Given the description of an element on the screen output the (x, y) to click on. 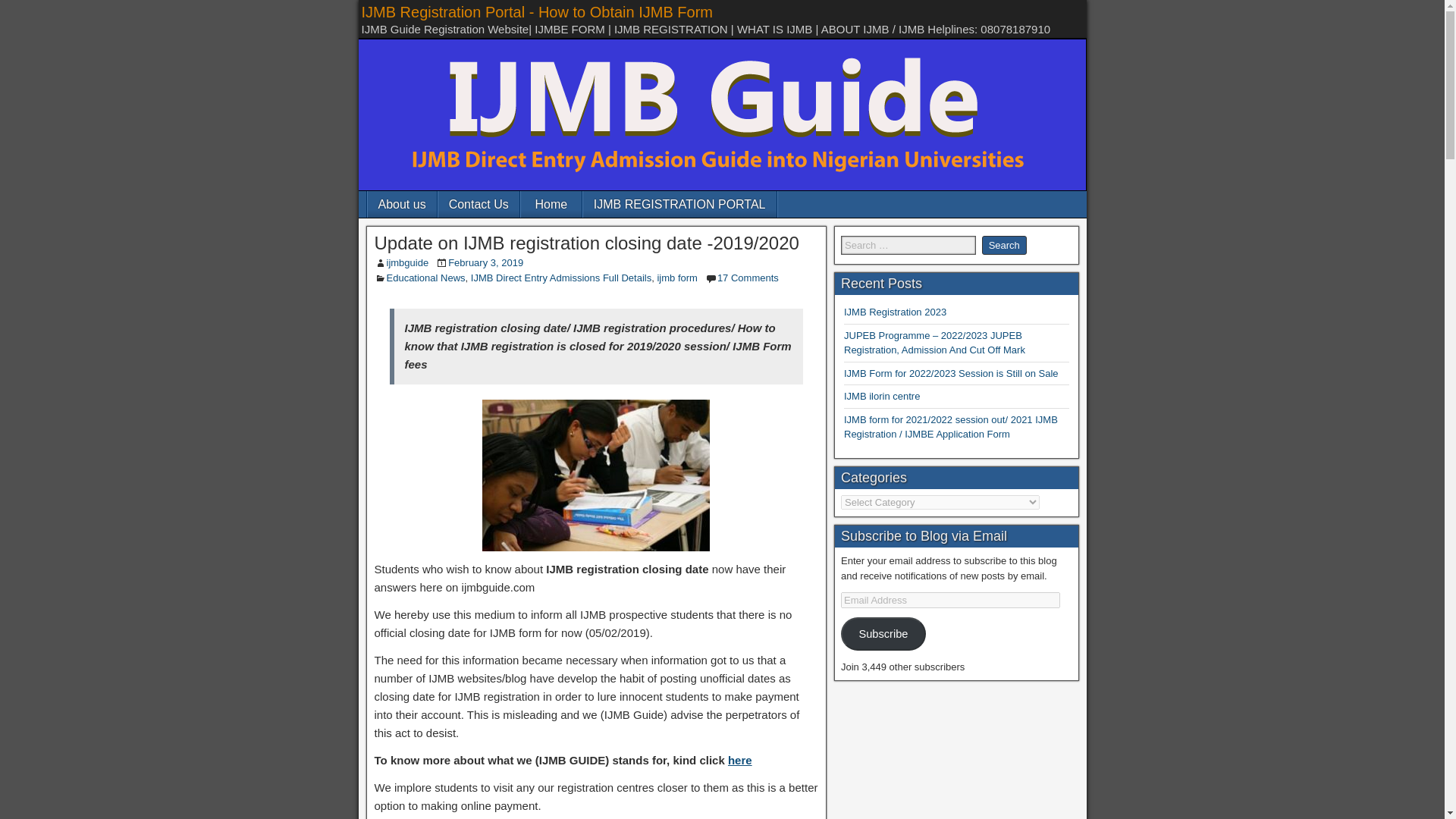
here (740, 759)
About us (400, 203)
Home (550, 203)
IJMB REGISTRATION PORTAL (679, 203)
February 3, 2019 (485, 262)
IJMB Registration Portal - How to Obtain IJMB Form (536, 12)
Educational News (426, 277)
IJMB Direct Entry Admissions Full Details (560, 277)
ijmbguide (408, 262)
ijmb form (676, 277)
Search (1003, 244)
Search (1003, 244)
Contact Us (478, 203)
17 Comments (747, 277)
